Given the description of an element on the screen output the (x, y) to click on. 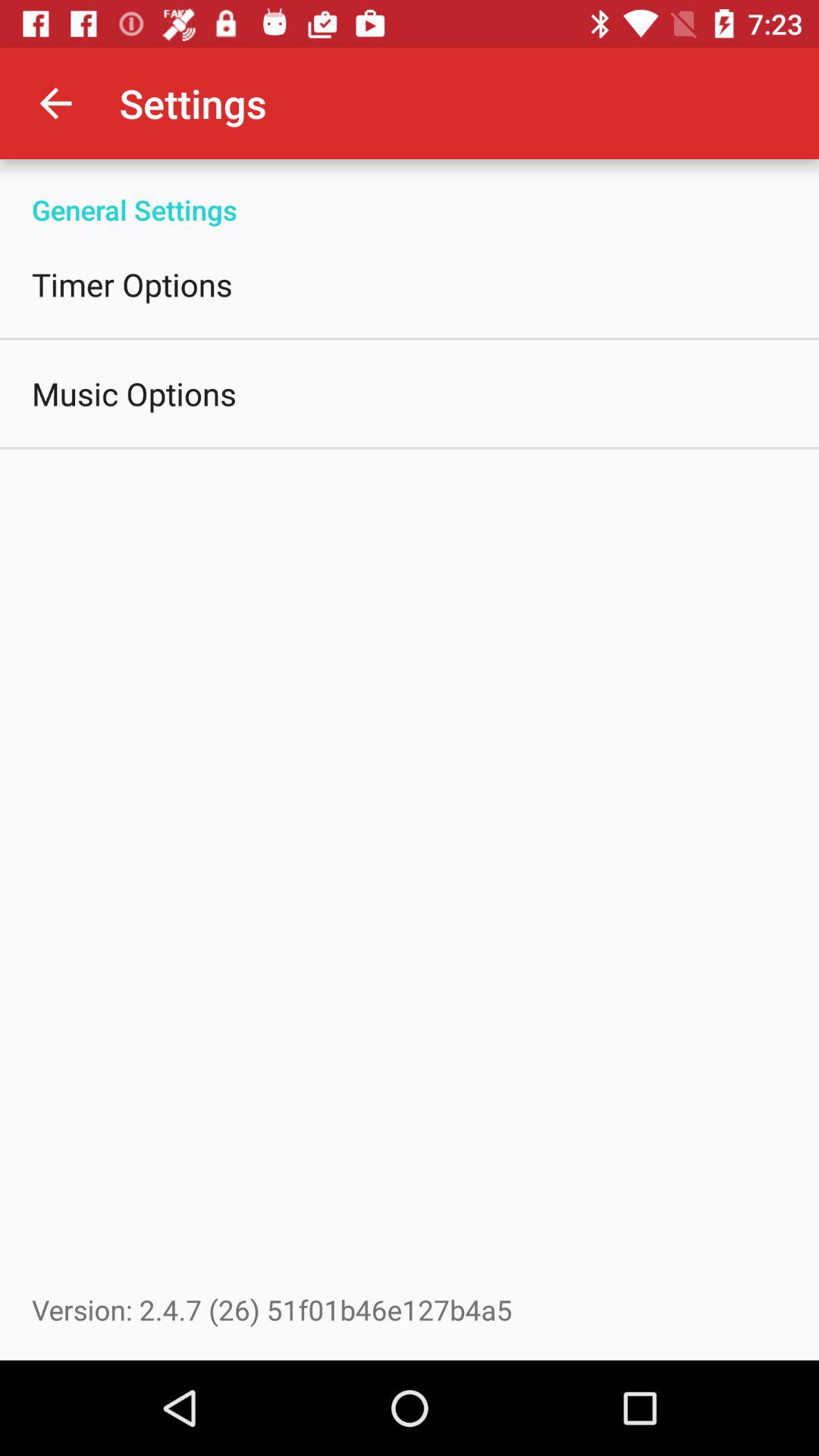
press the item below general settings icon (131, 283)
